Given the description of an element on the screen output the (x, y) to click on. 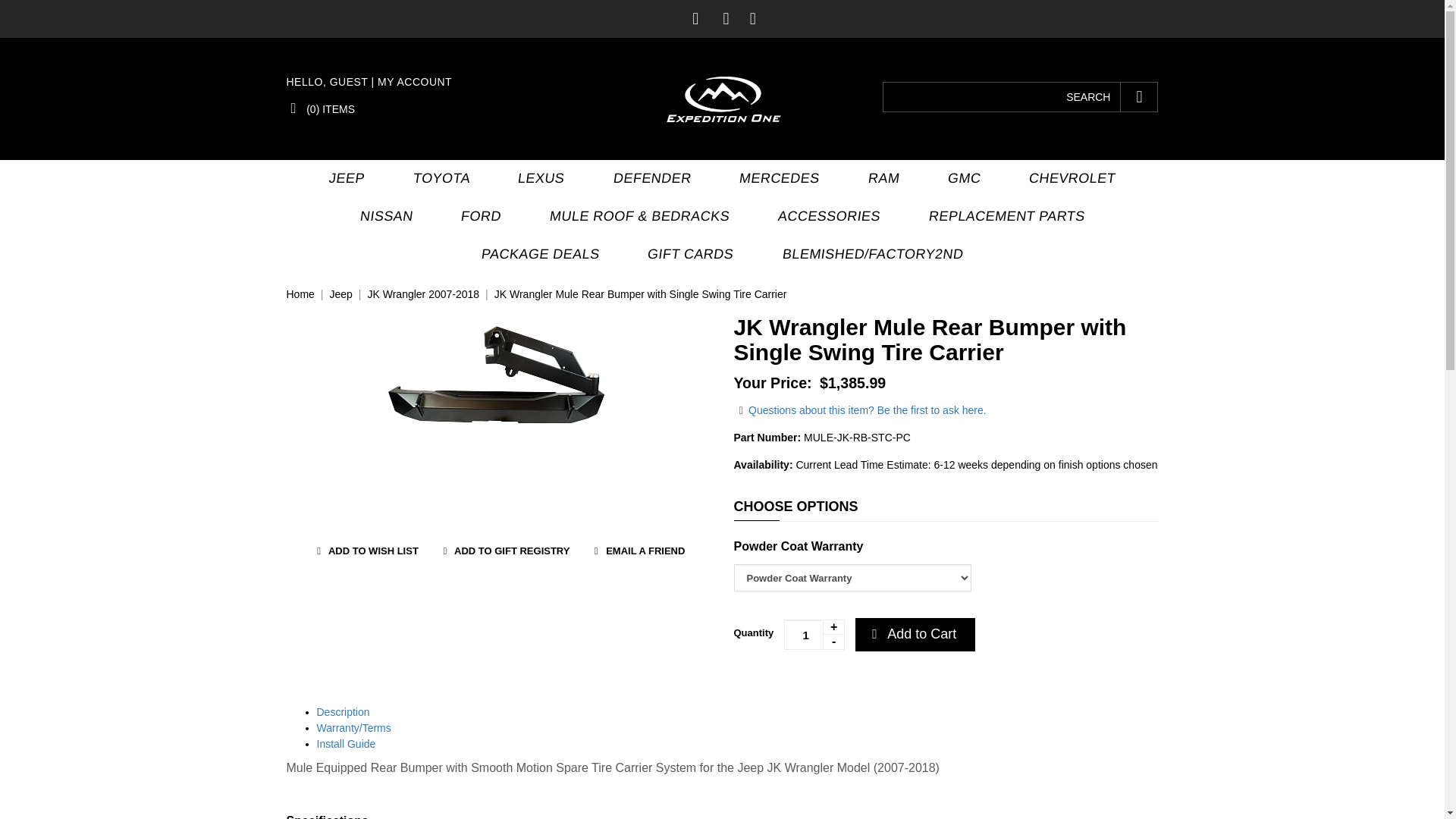
1 (814, 634)
MERCEDES (777, 178)
Follow Us on Instagram (753, 18)
LEXUS (539, 178)
JEEP (343, 178)
TOYOTA (438, 178)
RAM (880, 178)
Like Us on Facebook (694, 18)
DEFENDER (649, 178)
Subscribe to our Channel (726, 18)
